Given the description of an element on the screen output the (x, y) to click on. 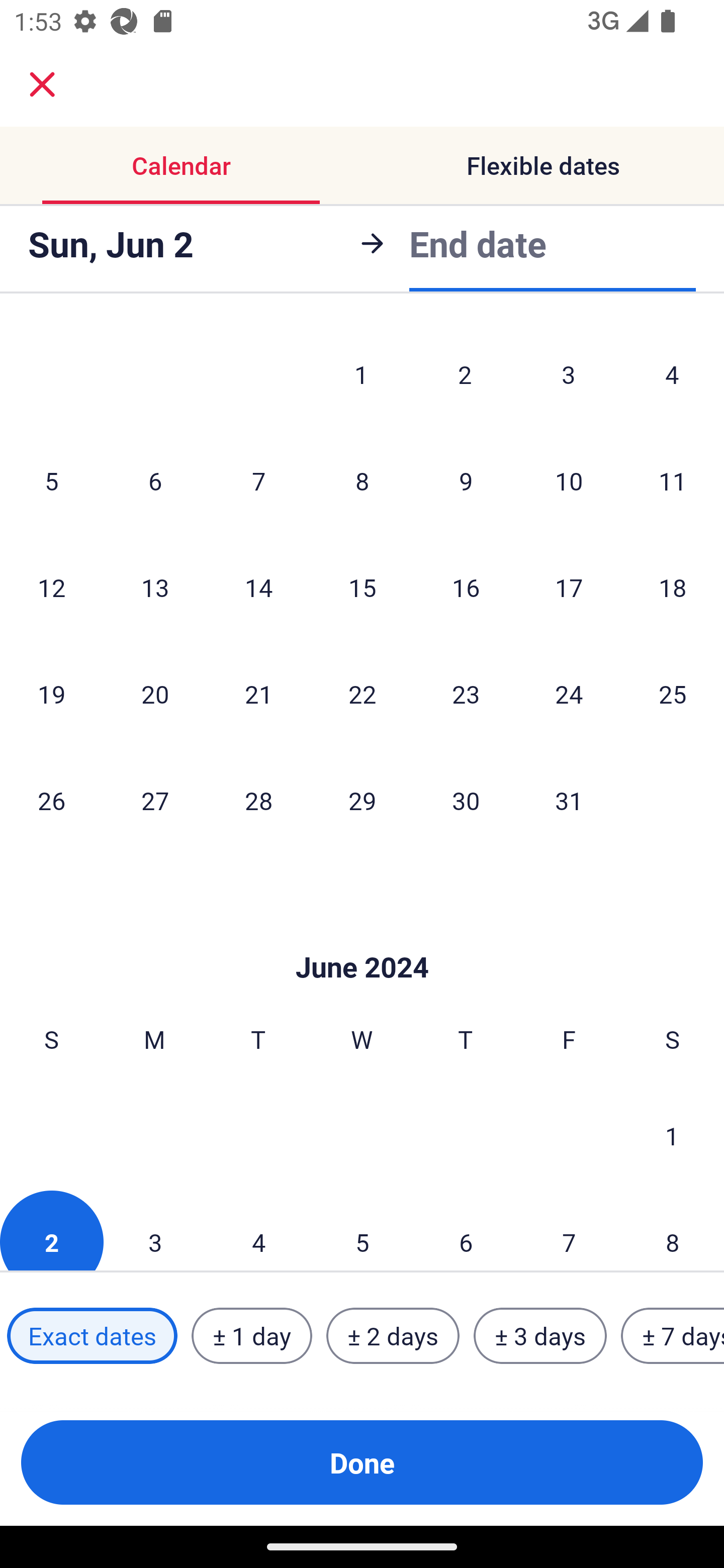
close. (42, 84)
Flexible dates (542, 164)
End date (477, 243)
1 Wednesday, May 1, 2024 (361, 373)
2 Thursday, May 2, 2024 (464, 373)
3 Friday, May 3, 2024 (568, 373)
4 Saturday, May 4, 2024 (672, 373)
5 Sunday, May 5, 2024 (51, 480)
6 Monday, May 6, 2024 (155, 480)
7 Tuesday, May 7, 2024 (258, 480)
8 Wednesday, May 8, 2024 (362, 480)
9 Thursday, May 9, 2024 (465, 480)
10 Friday, May 10, 2024 (569, 480)
11 Saturday, May 11, 2024 (672, 480)
12 Sunday, May 12, 2024 (51, 587)
13 Monday, May 13, 2024 (155, 587)
14 Tuesday, May 14, 2024 (258, 587)
15 Wednesday, May 15, 2024 (362, 587)
16 Thursday, May 16, 2024 (465, 587)
17 Friday, May 17, 2024 (569, 587)
18 Saturday, May 18, 2024 (672, 587)
19 Sunday, May 19, 2024 (51, 693)
20 Monday, May 20, 2024 (155, 693)
21 Tuesday, May 21, 2024 (258, 693)
22 Wednesday, May 22, 2024 (362, 693)
23 Thursday, May 23, 2024 (465, 693)
24 Friday, May 24, 2024 (569, 693)
25 Saturday, May 25, 2024 (672, 693)
26 Sunday, May 26, 2024 (51, 800)
27 Monday, May 27, 2024 (155, 800)
28 Tuesday, May 28, 2024 (258, 800)
29 Wednesday, May 29, 2024 (362, 800)
30 Thursday, May 30, 2024 (465, 800)
31 Friday, May 31, 2024 (569, 800)
Skip to Done (362, 937)
1 Saturday, June 1, 2024 (672, 1134)
3 Monday, June 3, 2024 (155, 1230)
4 Tuesday, June 4, 2024 (258, 1230)
5 Wednesday, June 5, 2024 (362, 1230)
6 Thursday, June 6, 2024 (465, 1230)
7 Friday, June 7, 2024 (569, 1230)
8 Saturday, June 8, 2024 (672, 1230)
Exact dates (92, 1335)
± 1 day (251, 1335)
± 2 days (392, 1335)
± 3 days (539, 1335)
± 7 days (672, 1335)
Done (361, 1462)
